Given the description of an element on the screen output the (x, y) to click on. 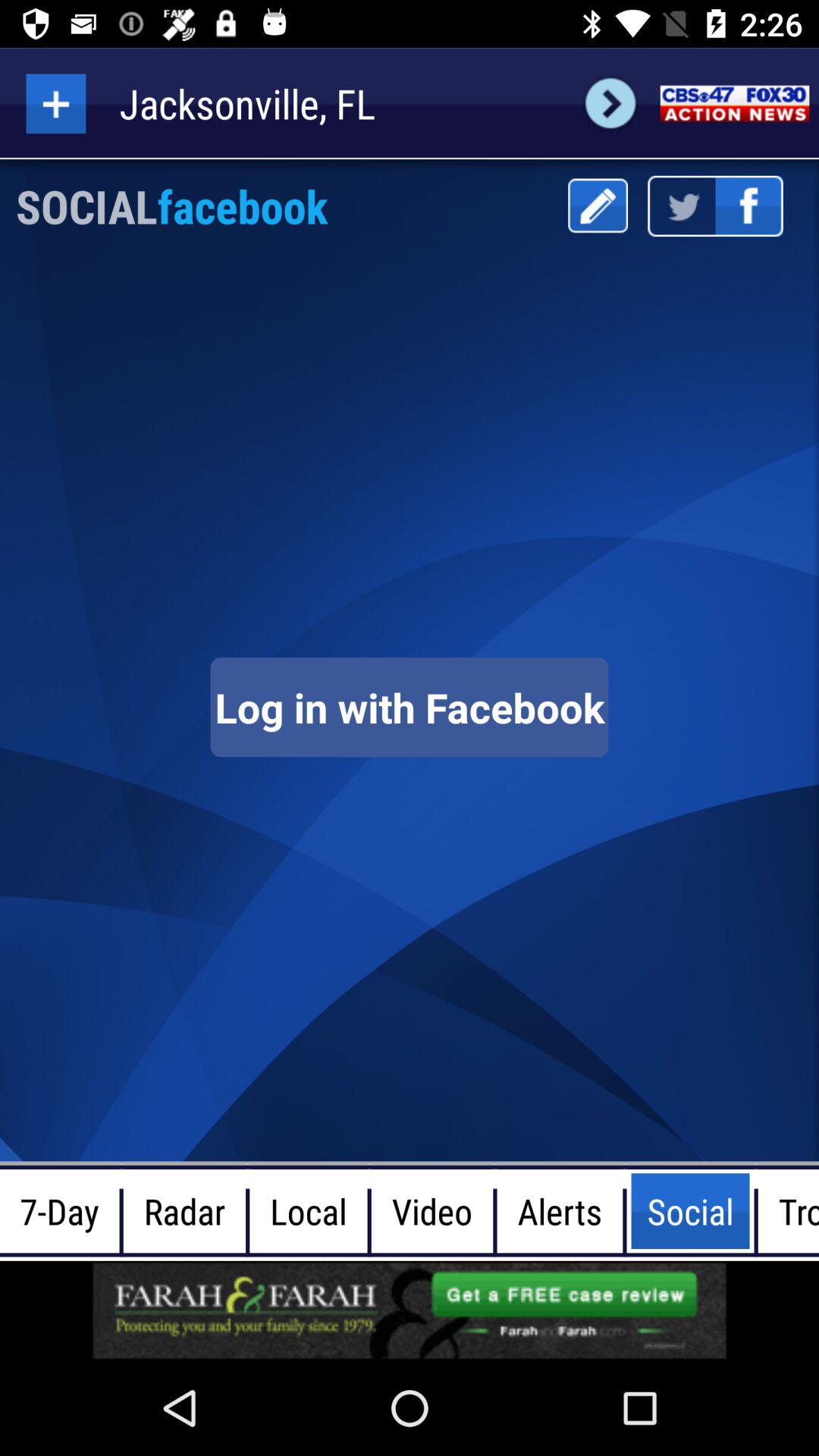
go to next button (610, 103)
